Given the description of an element on the screen output the (x, y) to click on. 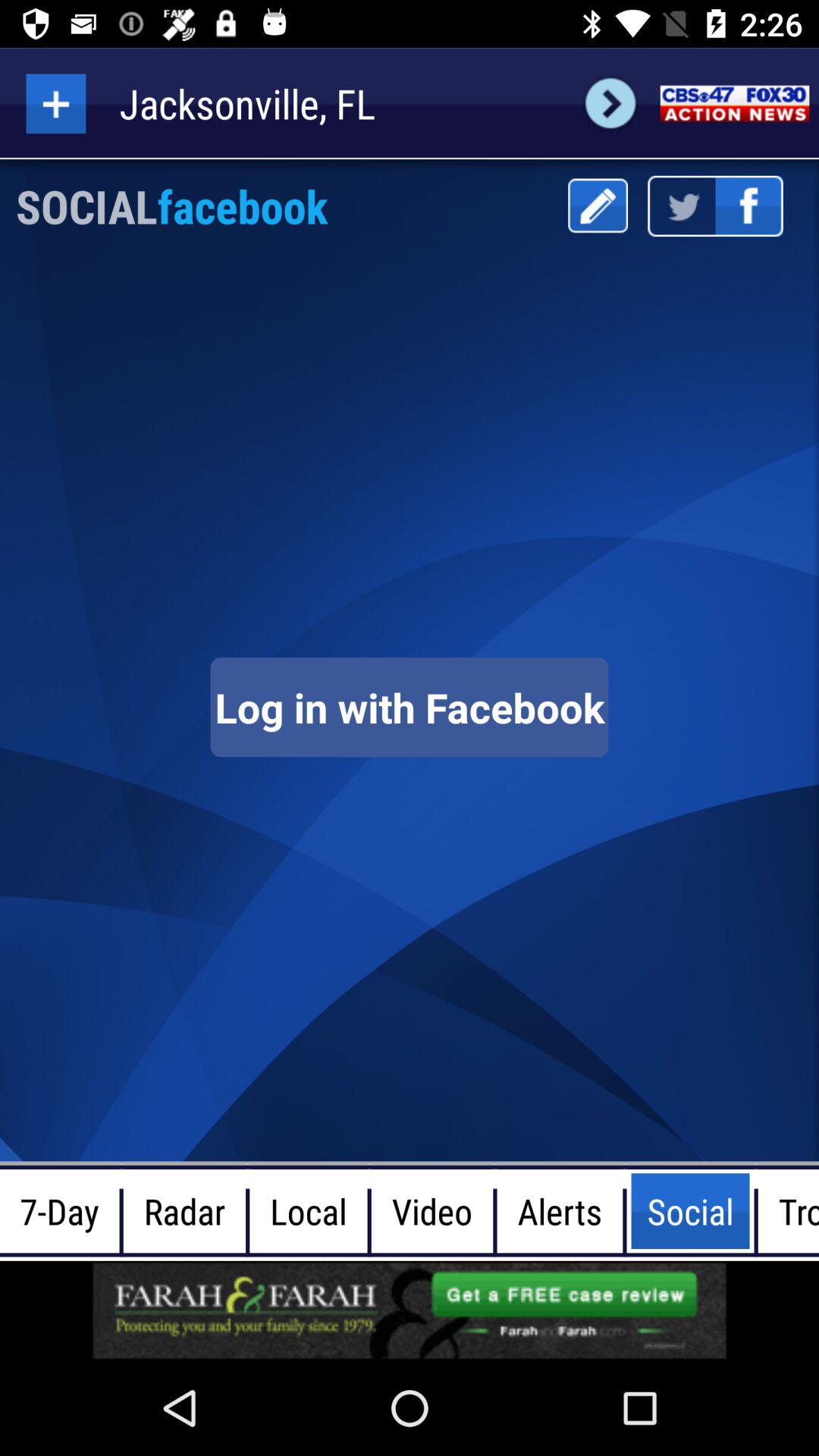
go to next button (610, 103)
